Given the description of an element on the screen output the (x, y) to click on. 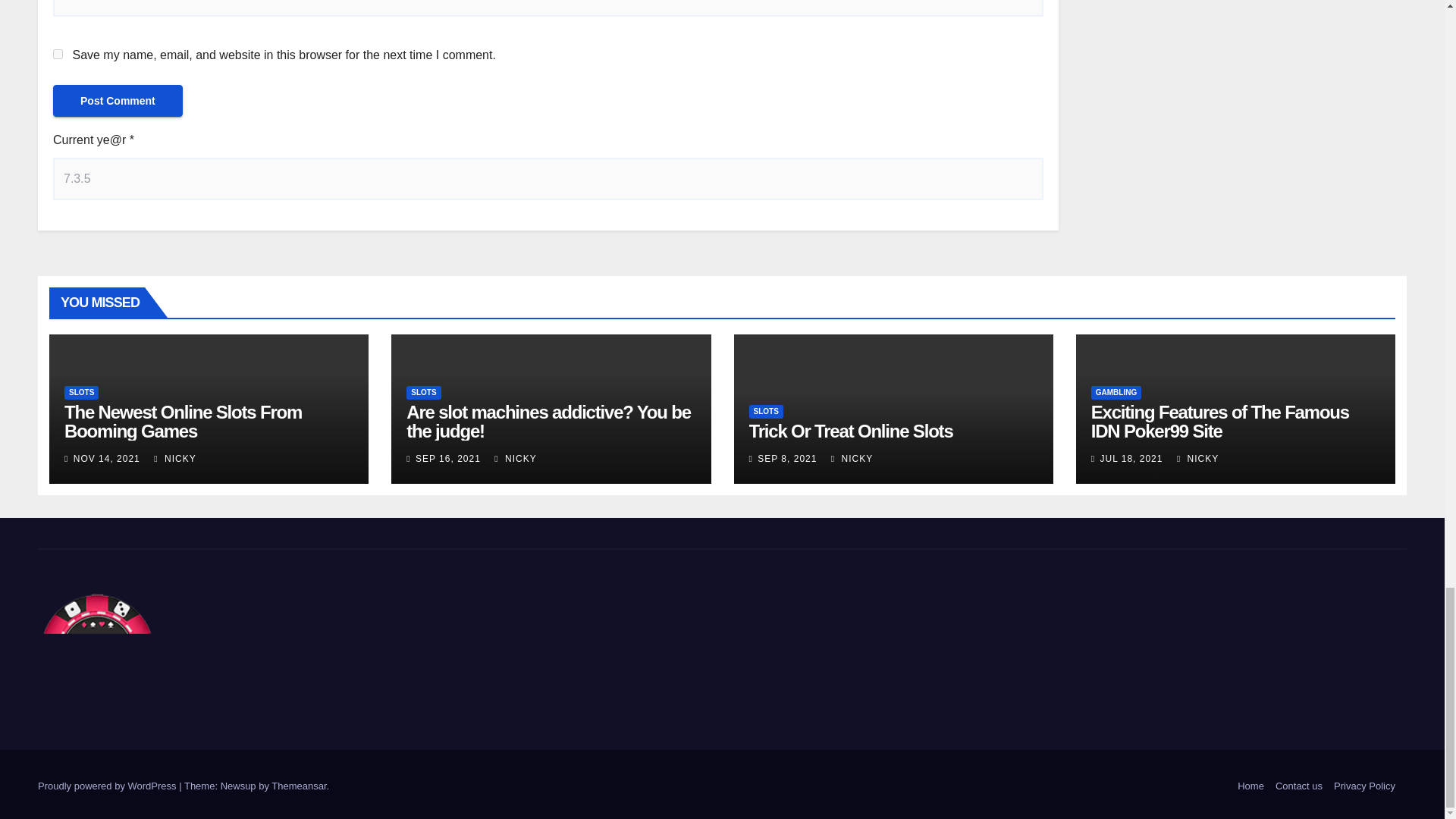
Home (1250, 785)
Permalink to: Are slot machines addictive? You be the judge! (548, 421)
Post Comment (117, 101)
7.3.5 (547, 178)
Permalink to: Trick Or Treat Online Slots (851, 430)
Permalink to: The Newest Online Slots From Booming Games (182, 421)
yes (57, 53)
Post Comment (117, 101)
